Given the description of an element on the screen output the (x, y) to click on. 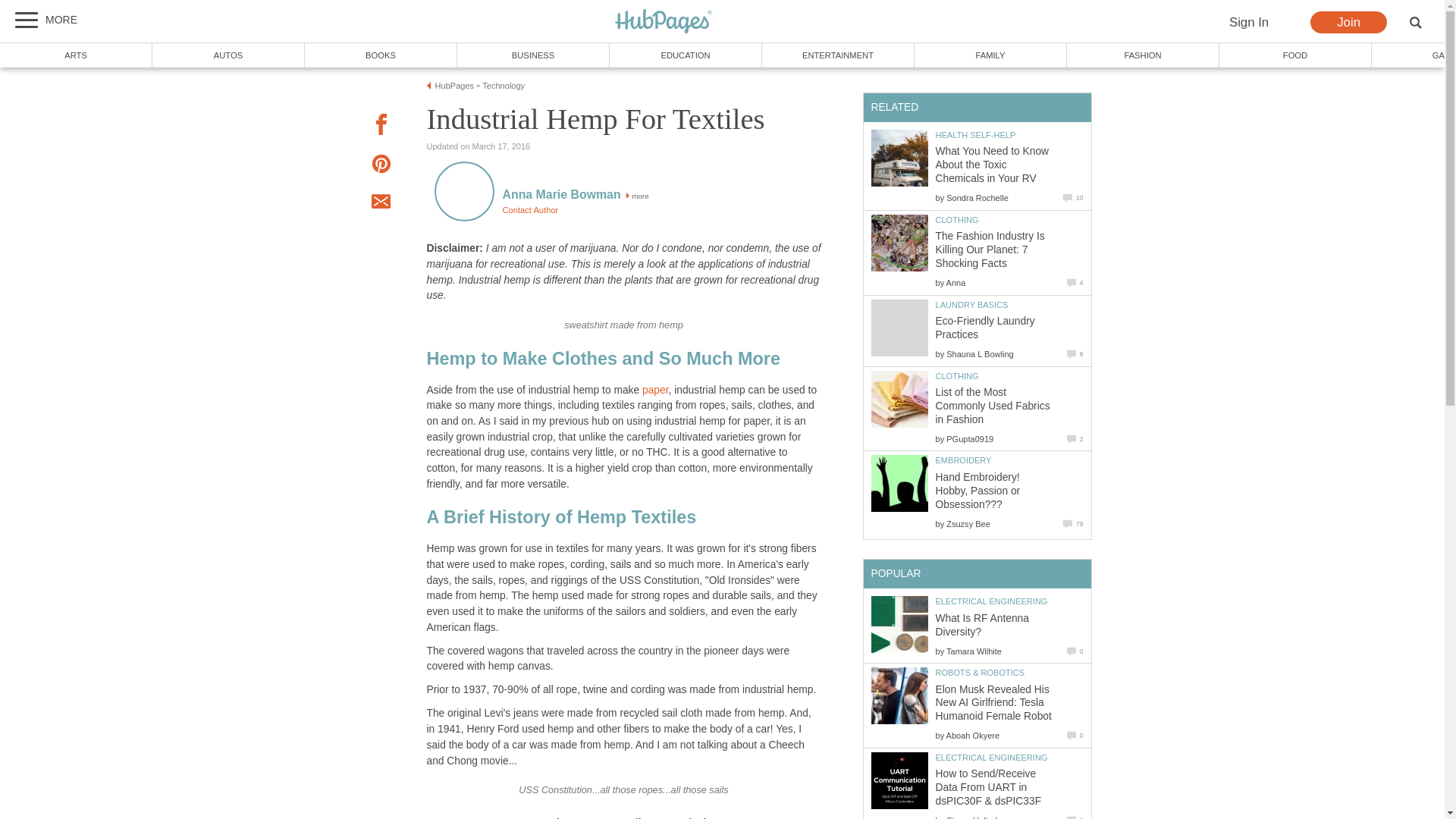
HubPages (663, 22)
Hand Embroidery! Hobby, Passion or Obsession??? (898, 483)
HubPages (663, 21)
FASHION (1143, 55)
FAMILY (990, 55)
FOOD (1295, 55)
What You Need to Know About the Toxic Chemicals in Your RV (992, 164)
The Fashion Industry Is Killing Our Planet: 7 Shocking Facts (898, 242)
BUSINESS (533, 55)
paper (655, 389)
